Given the description of an element on the screen output the (x, y) to click on. 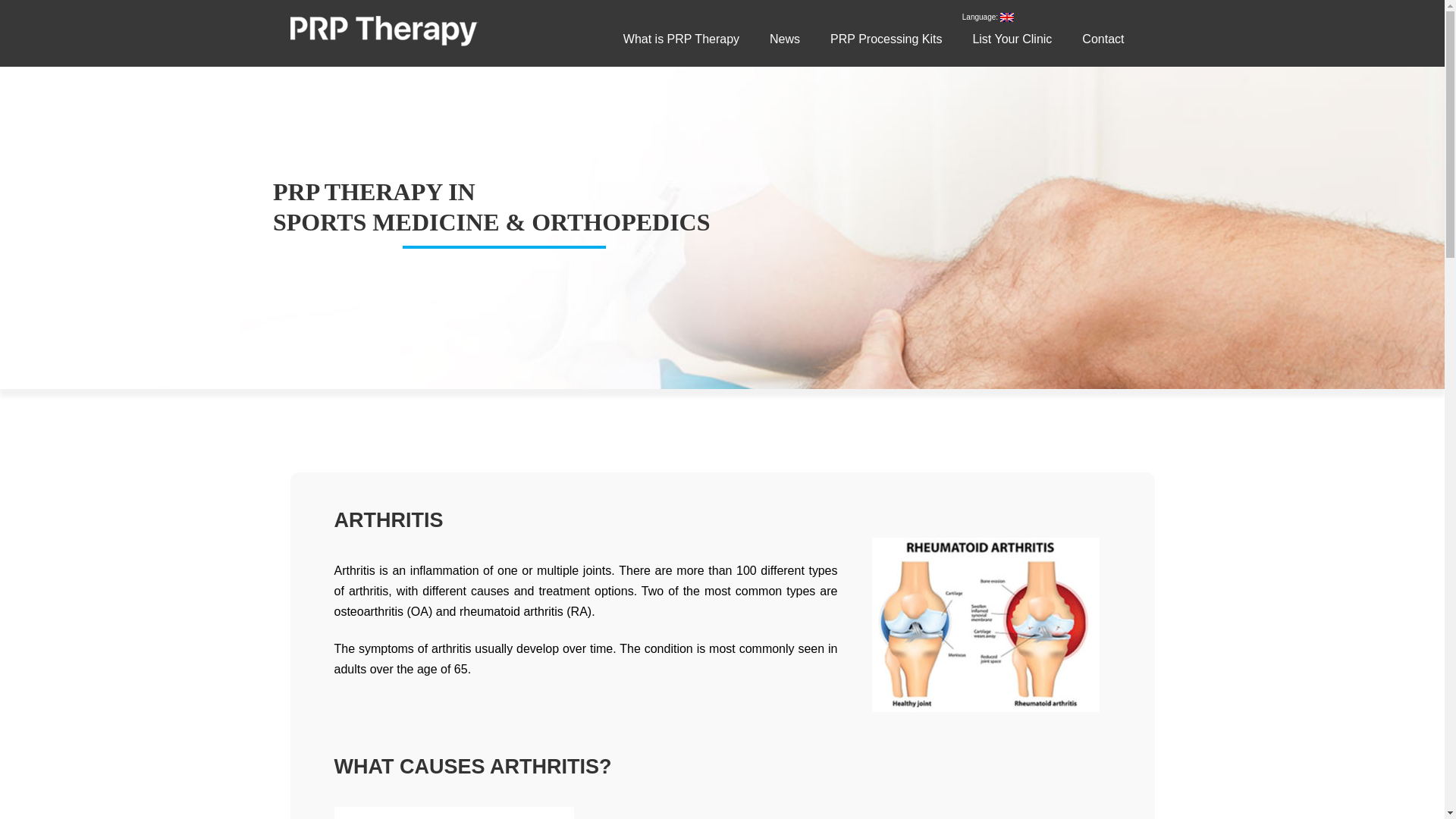
News (1254, 114)
Language:  (987, 17)
Contact (1102, 39)
News (784, 39)
Language:  (1277, 205)
X (1410, 33)
List Your Clinic (1279, 160)
List Your Clinic (1011, 39)
PRP Processing Kits (885, 39)
PRP Processing Kits (1295, 137)
What is PRP Therapy (681, 39)
English (987, 17)
Contact (1260, 182)
English (1277, 205)
What is PRP Therapy (1297, 91)
